Given the description of an element on the screen output the (x, y) to click on. 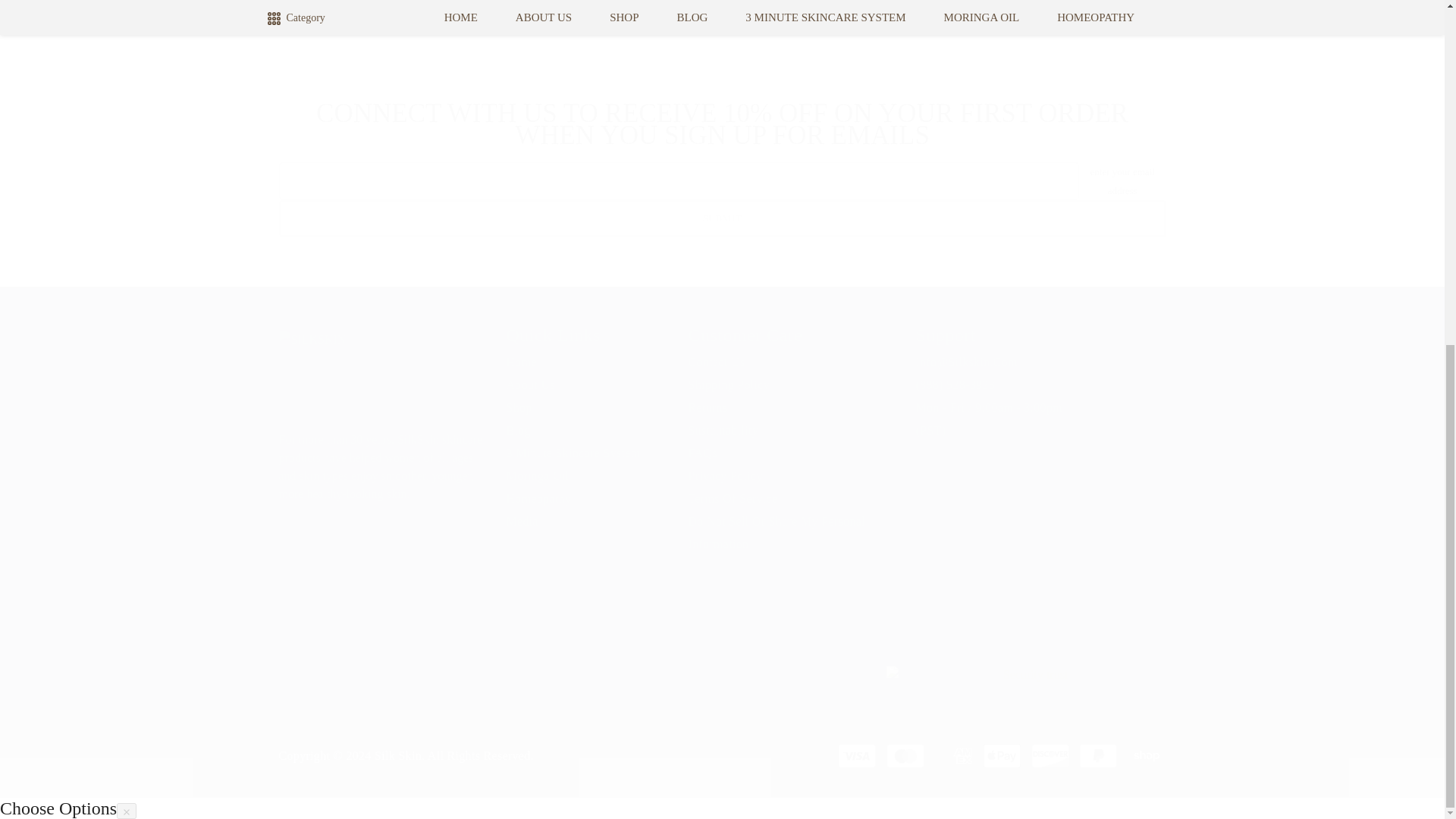
Shop Pay (1146, 755)
Visa (381, 626)
Mastercard (857, 755)
Apple Pay (905, 755)
Discover (1001, 755)
American Express (722, 199)
PayPal (1050, 755)
